Given the description of an element on the screen output the (x, y) to click on. 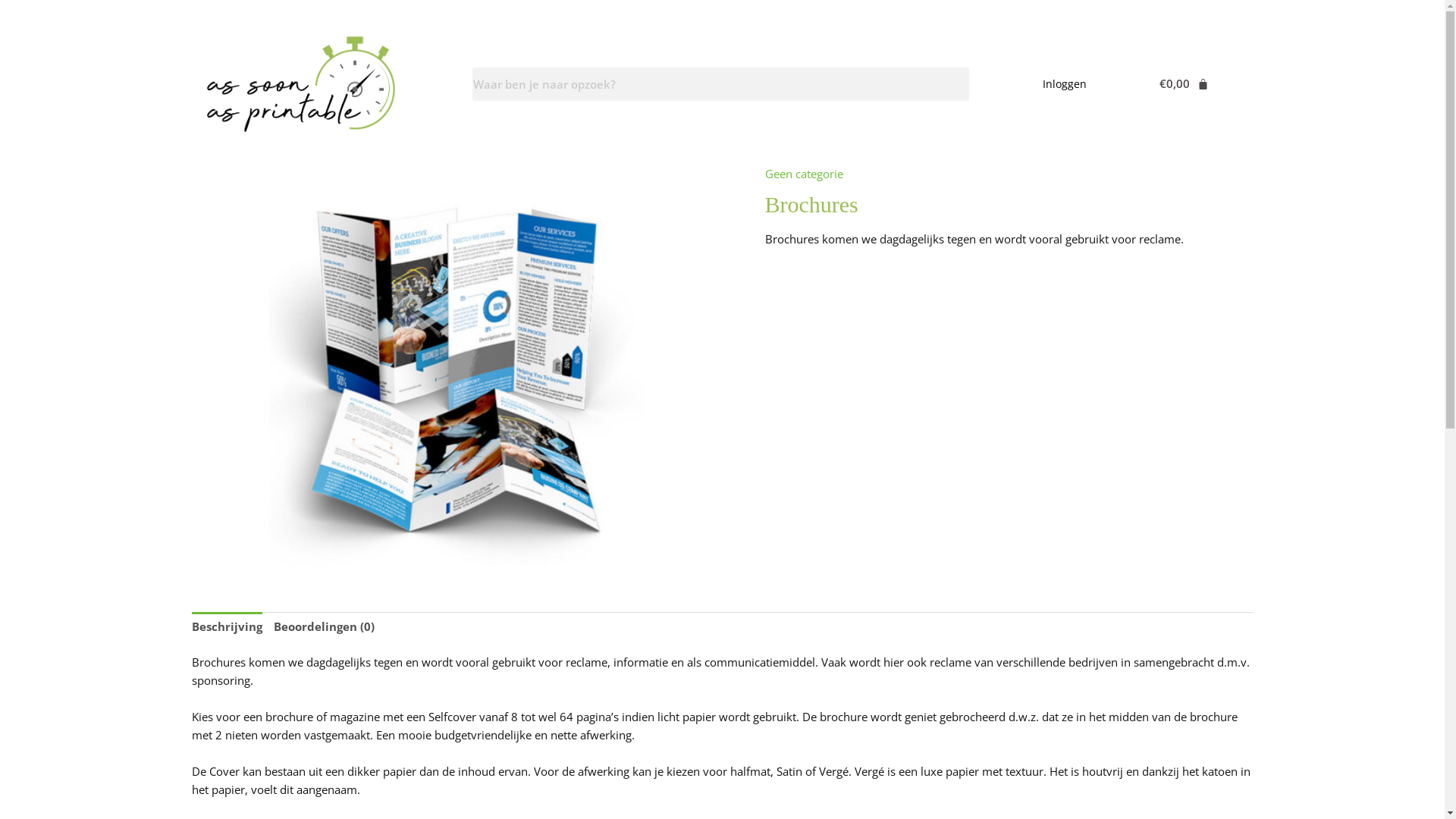
Inloggen Element type: text (1058, 84)
Geen categorie Element type: text (803, 173)
Brochures Element type: hover (456, 367)
Zoeken Element type: hover (719, 83)
Beoordelingen (0) Element type: text (323, 626)
Beschrijving Element type: text (226, 626)
